Given the description of an element on the screen output the (x, y) to click on. 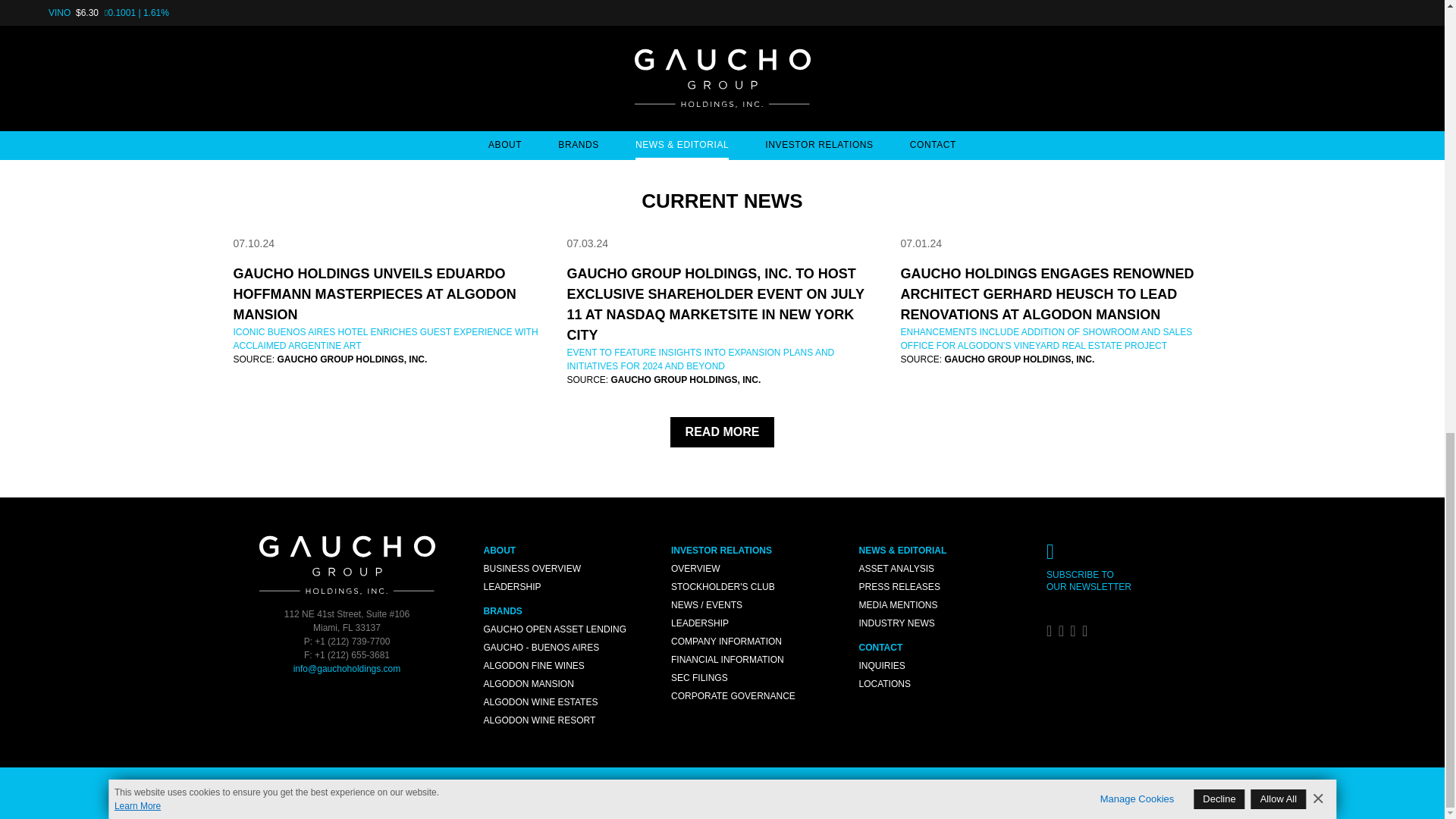
VISIT (361, 12)
VISIT (120, 12)
Contact (1128, 554)
